Given the description of an element on the screen output the (x, y) to click on. 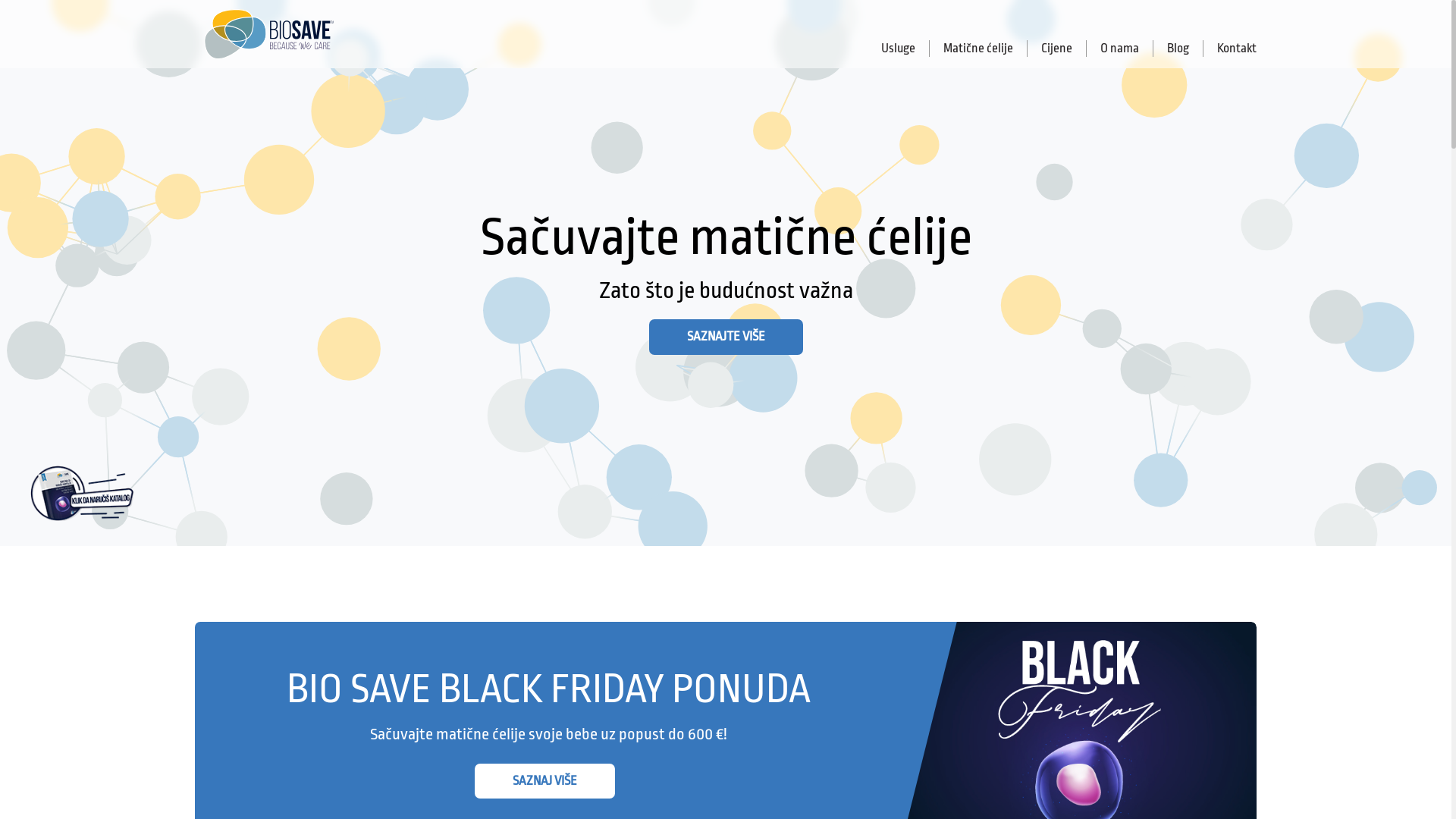
Cijene Element type: text (1056, 48)
Blog Element type: text (1178, 48)
O nama Element type: text (1119, 48)
Kontakt Element type: text (1229, 48)
Usluge Element type: text (898, 48)
